Given the description of an element on the screen output the (x, y) to click on. 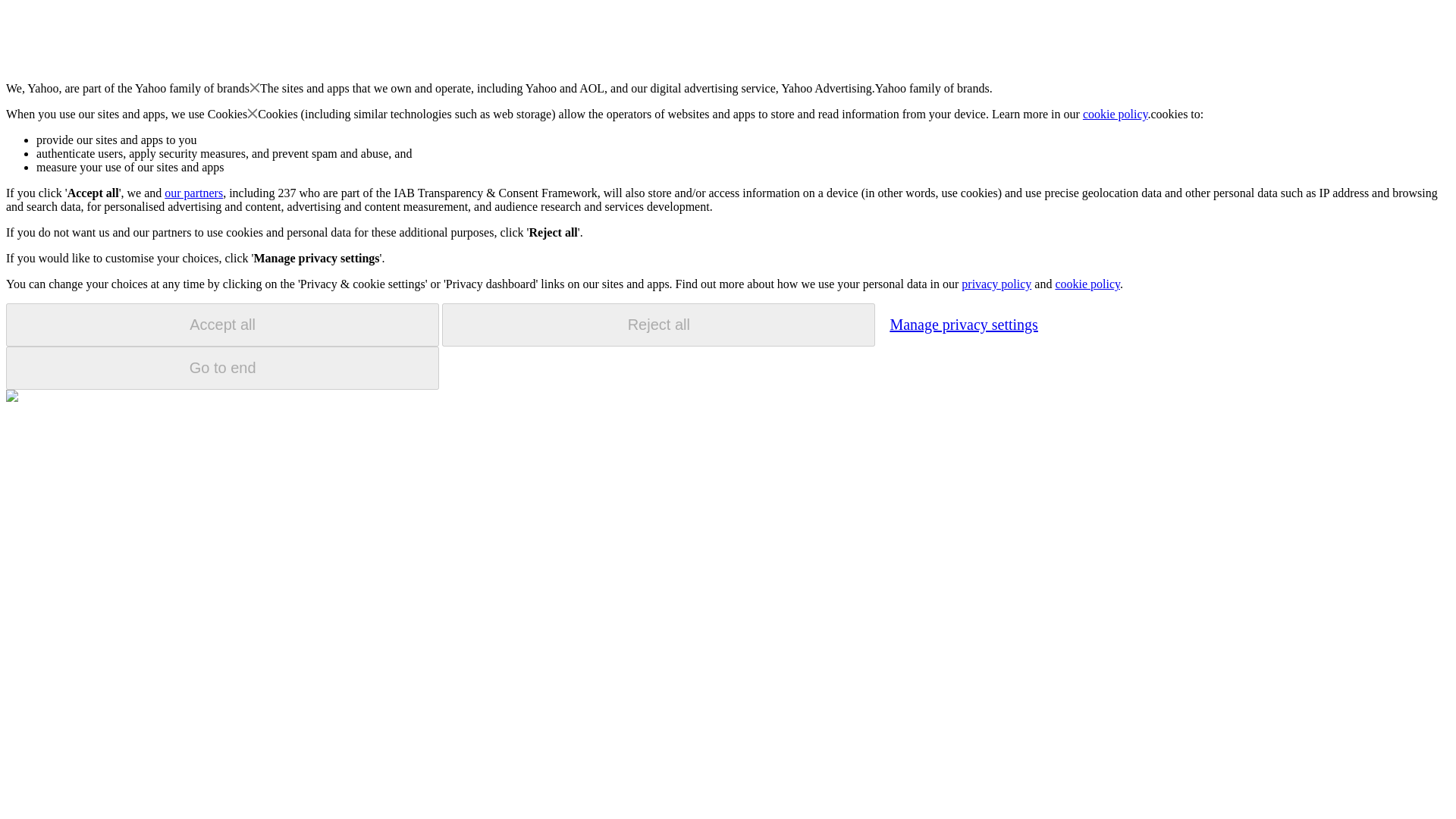
our partners (193, 192)
Manage privacy settings (963, 323)
Reject all (658, 324)
Accept all (222, 324)
cookie policy (1115, 113)
privacy policy (995, 283)
cookie policy (1086, 283)
Go to end (222, 367)
